Given the description of an element on the screen output the (x, y) to click on. 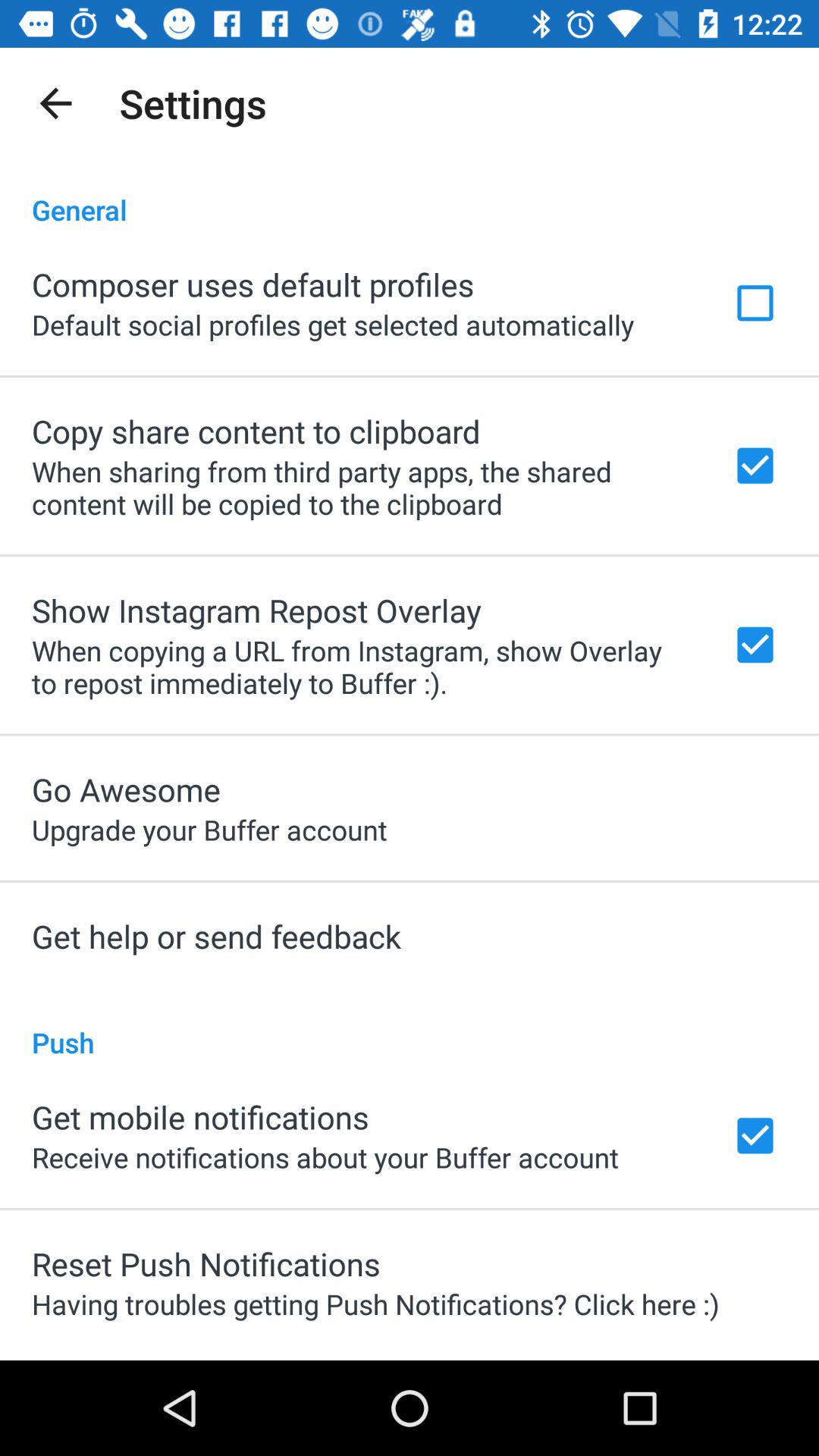
scroll to the get mobile notifications item (200, 1116)
